Given the description of an element on the screen output the (x, y) to click on. 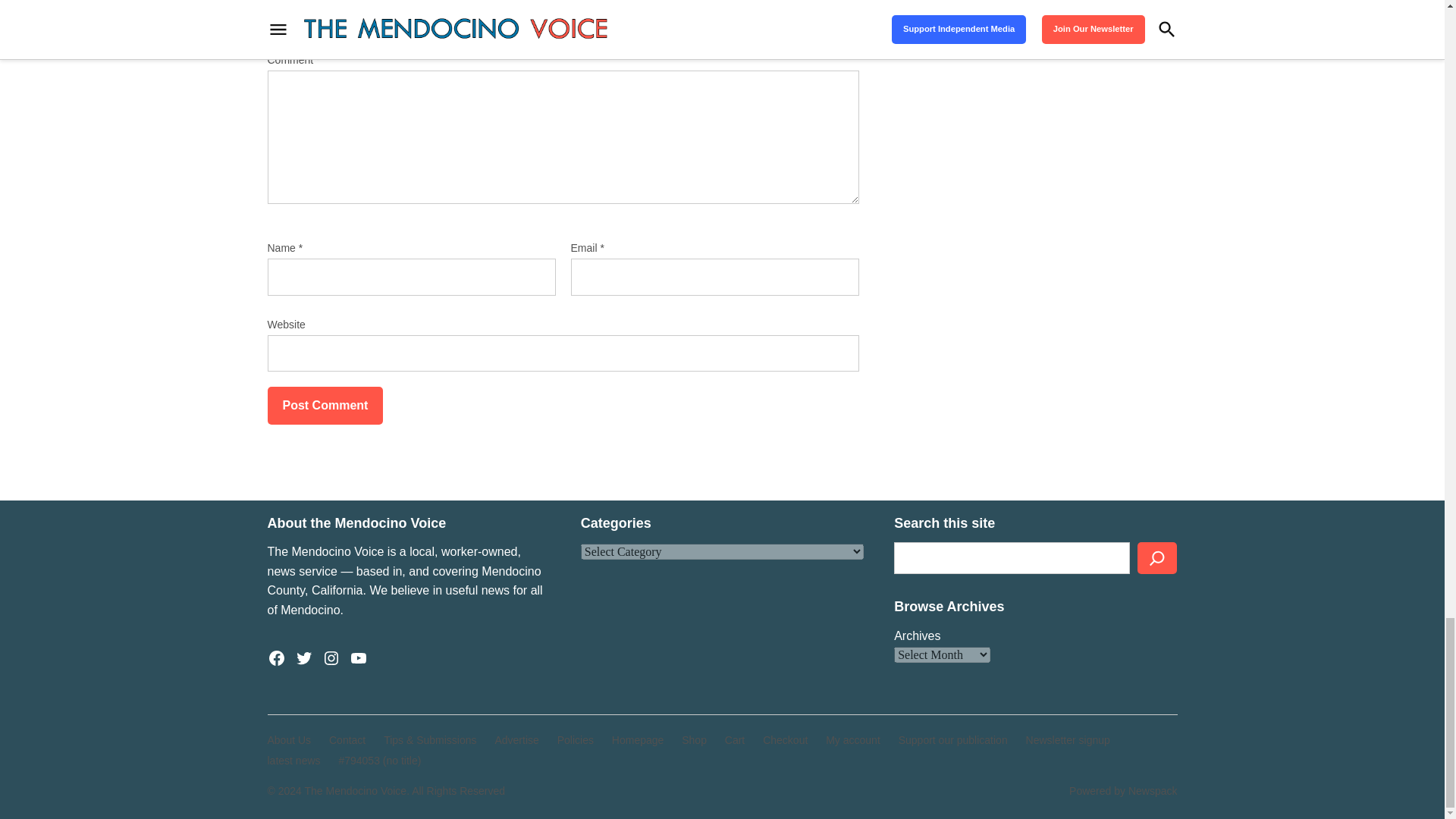
Post Comment (324, 405)
